Given the description of an element on the screen output the (x, y) to click on. 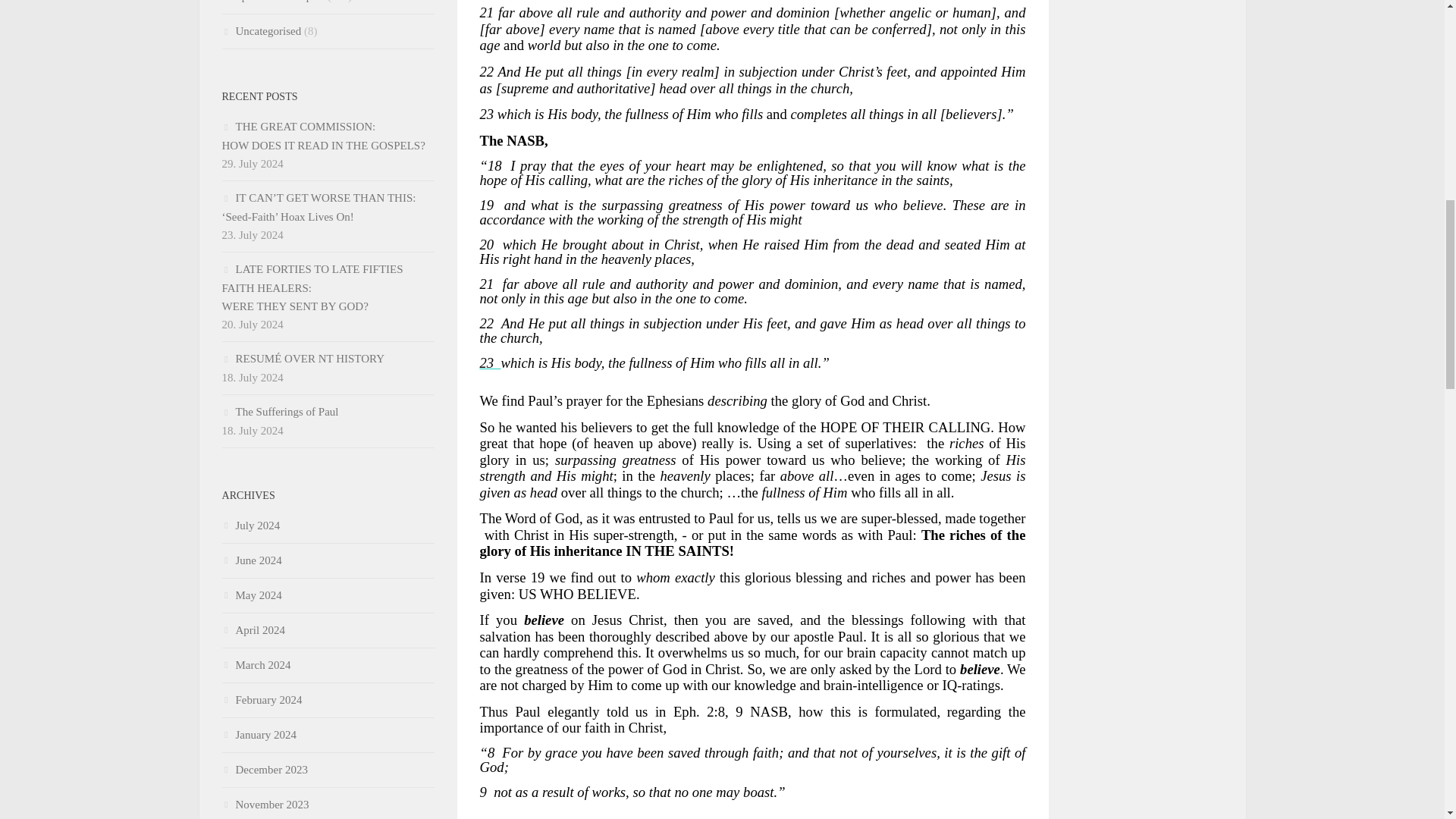
Special bible topics (323, 135)
Uncategorised (272, 1)
23   (261, 30)
